Given the description of an element on the screen output the (x, y) to click on. 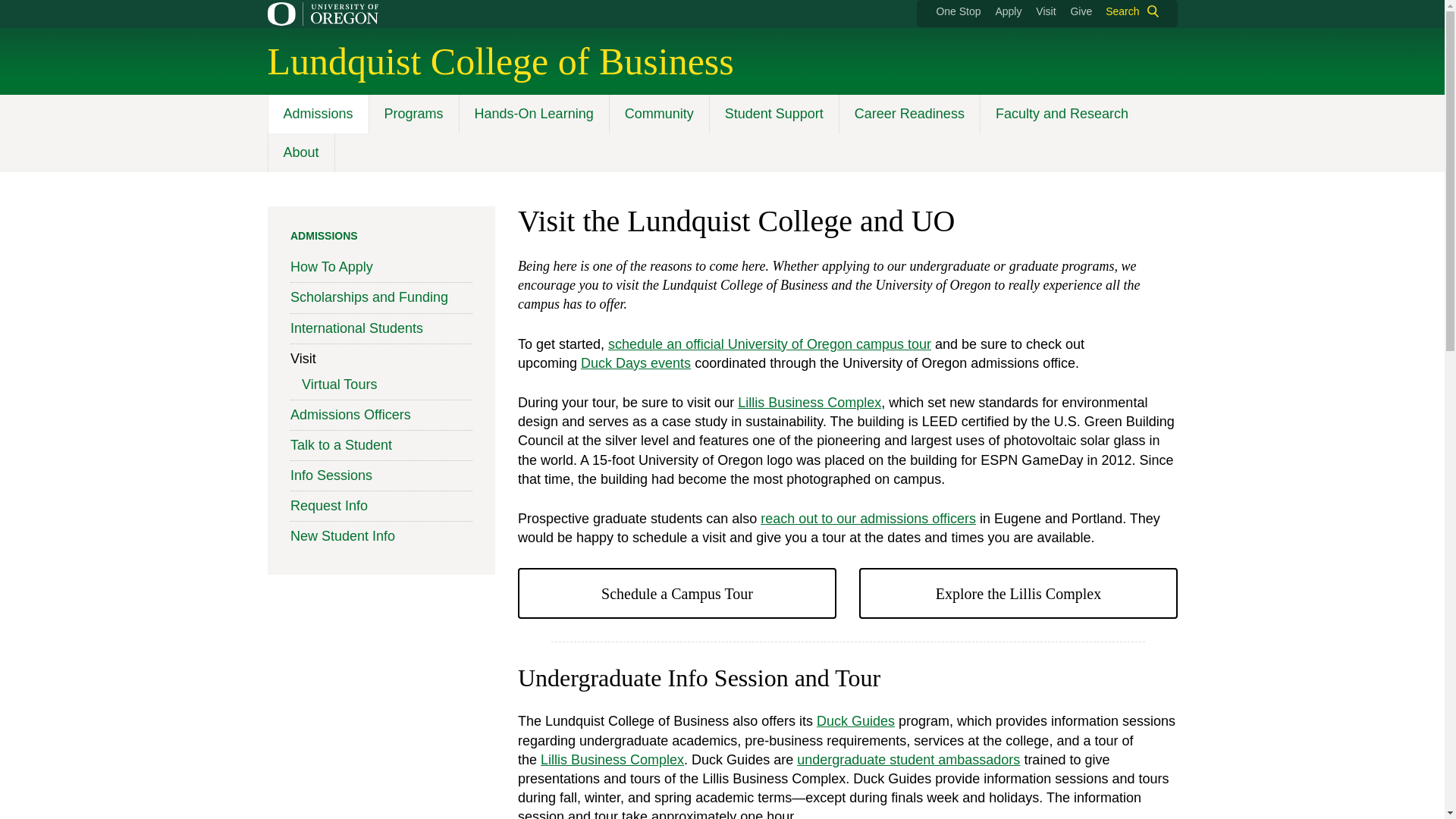
Search (1128, 11)
Give (1081, 10)
Lundquist College of BusinessHome (499, 61)
Lillis Business Complex (809, 402)
Visit (1045, 10)
Apply (1008, 10)
One Stop (957, 10)
Lillis Business Complex (1017, 593)
Talk to a Student (854, 720)
Lundquist Admissions Officers (867, 518)
Talk to a Student (908, 759)
